Given the description of an element on the screen output the (x, y) to click on. 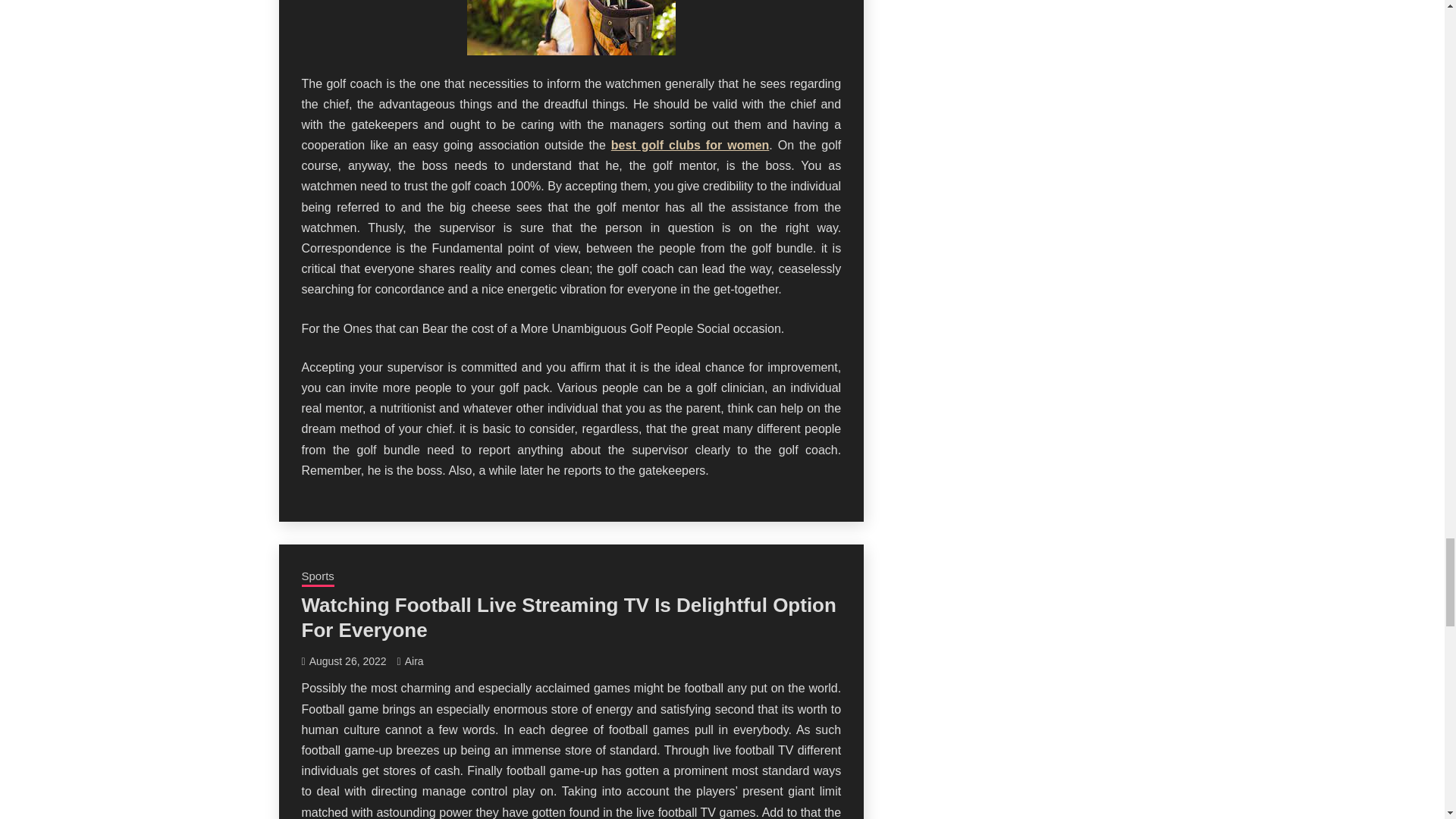
best golf clubs for women (689, 144)
Sports (317, 578)
